Given the description of an element on the screen output the (x, y) to click on. 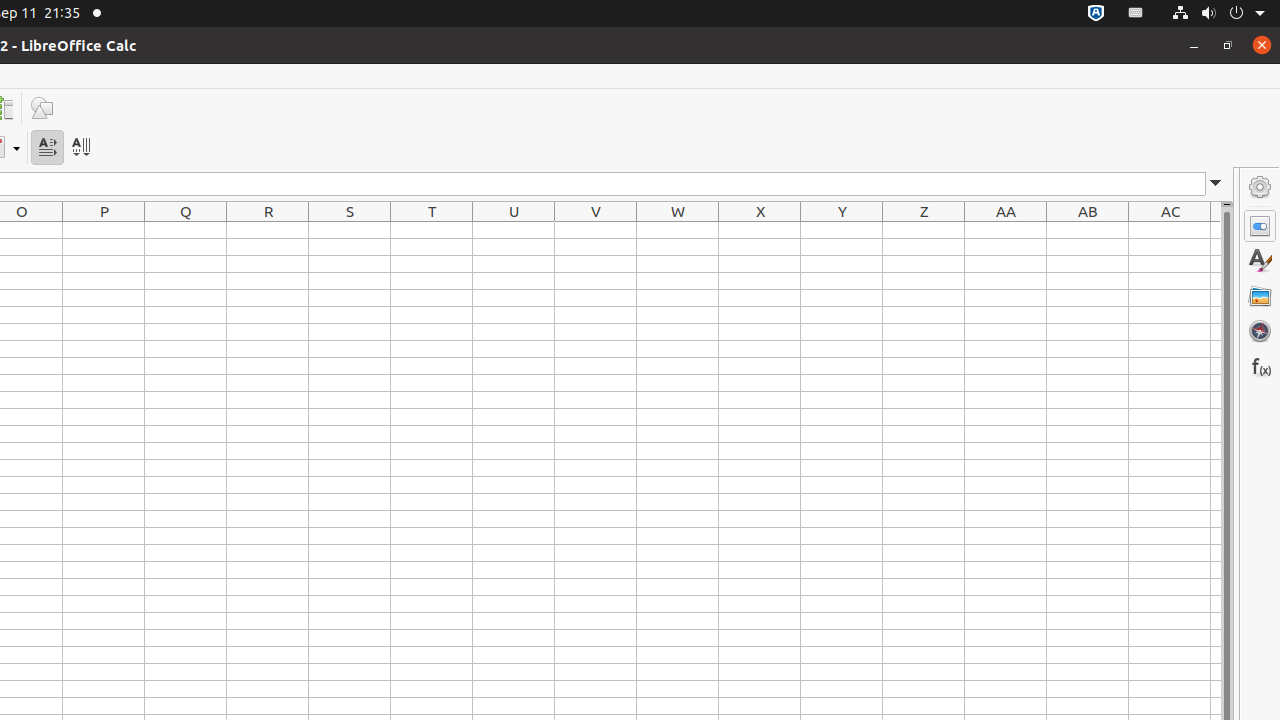
Functions Element type: radio-button (1260, 366)
Draw Functions Element type: toggle-button (41, 108)
AC1 Element type: table-cell (1170, 230)
Q1 Element type: table-cell (186, 230)
